Given the description of an element on the screen output the (x, y) to click on. 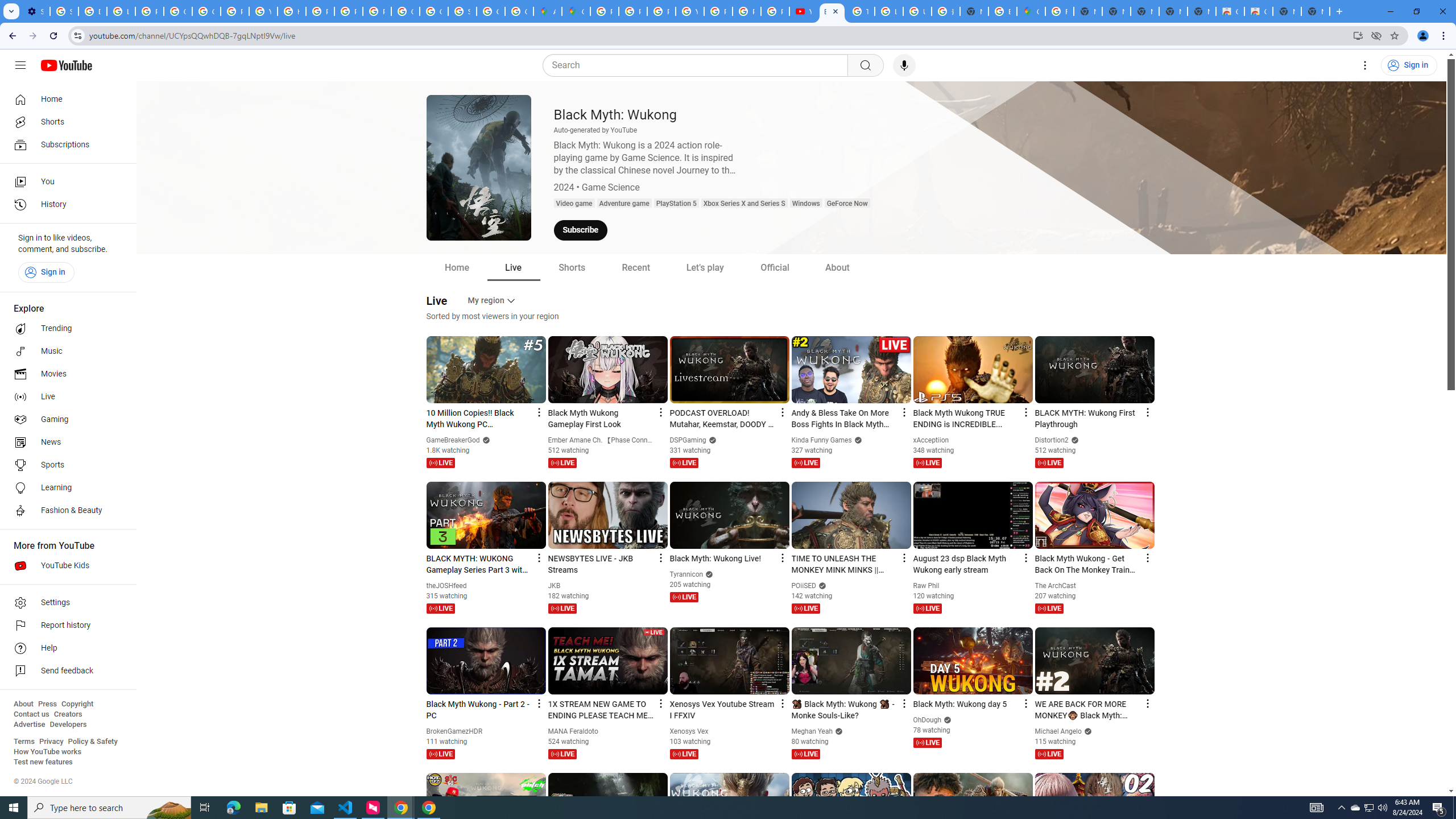
Gaming (64, 419)
Copyright (77, 703)
Sports (64, 464)
xAcceptiion (930, 439)
Video game (574, 203)
Privacy Checkup (746, 11)
Privacy Checkup (774, 11)
JKB (554, 585)
Black Myth Wukong - Part 2 - PC by BrokenGamezHDR 466 views (479, 709)
